Given the description of an element on the screen output the (x, y) to click on. 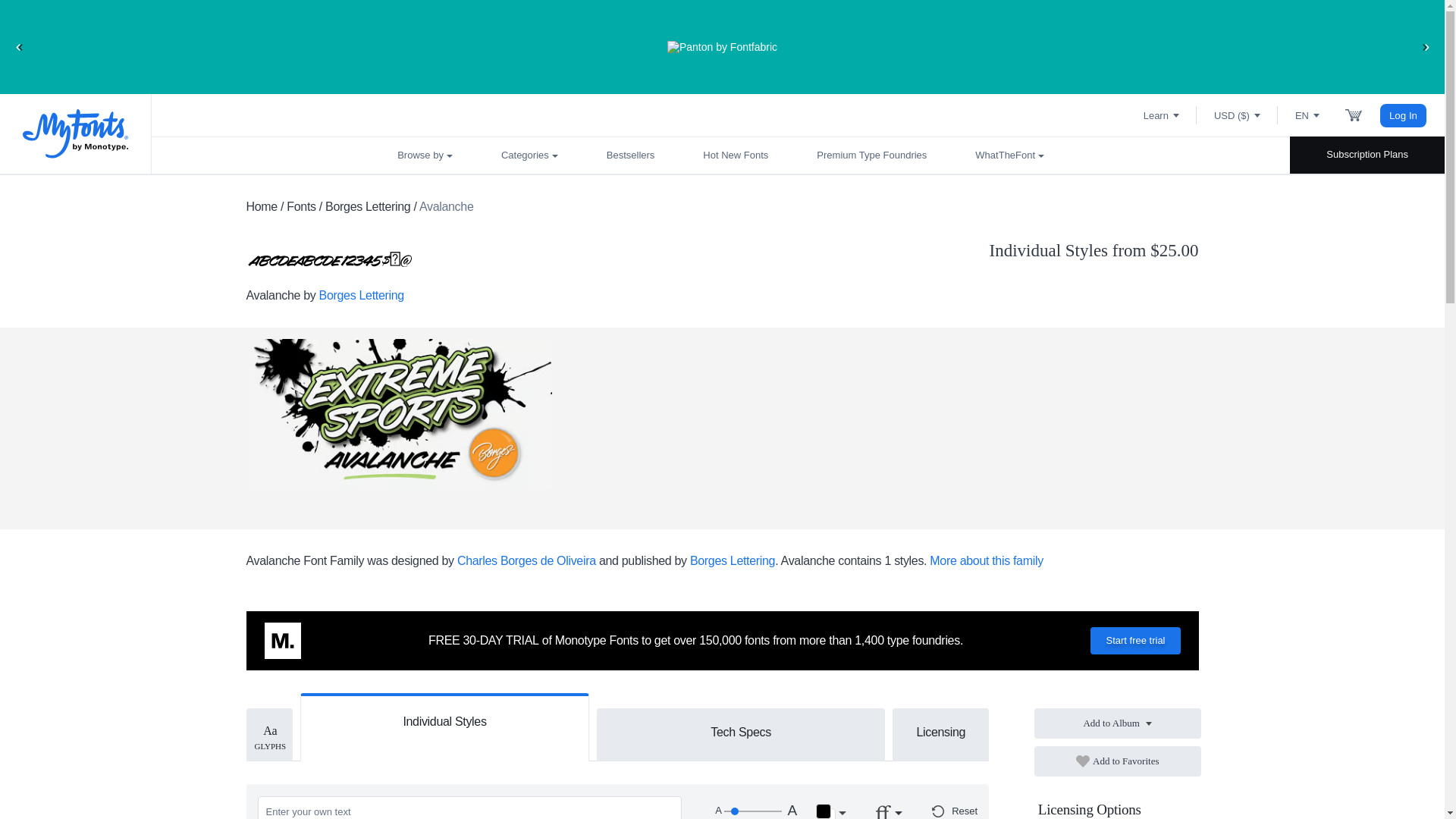
Tech Specs (740, 731)
Log In (1403, 114)
Licensing (940, 731)
Skip to content (72, 27)
Individual Styles (444, 719)
MyFonts (75, 133)
